Given the description of an element on the screen output the (x, y) to click on. 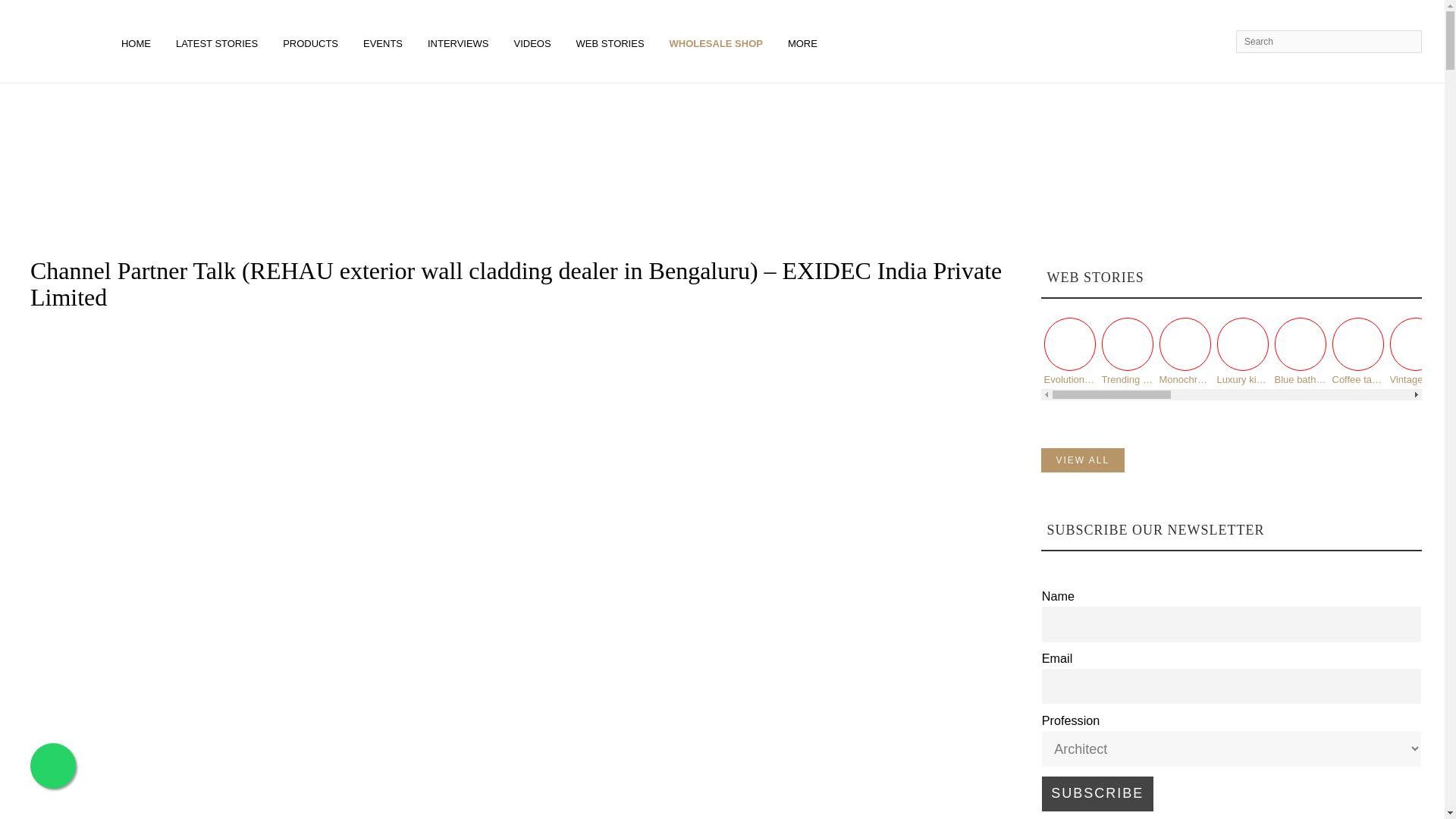
WEB STORIES (612, 40)
VIDEOS (534, 40)
HOME (138, 40)
LATEST STORIES (219, 40)
PRODUCTS (313, 40)
EVENTS (385, 40)
INTERVIEWS (460, 40)
Subscribe (1097, 793)
MORE (804, 40)
WHOLESALE SHOP (718, 40)
